Given the description of an element on the screen output the (x, y) to click on. 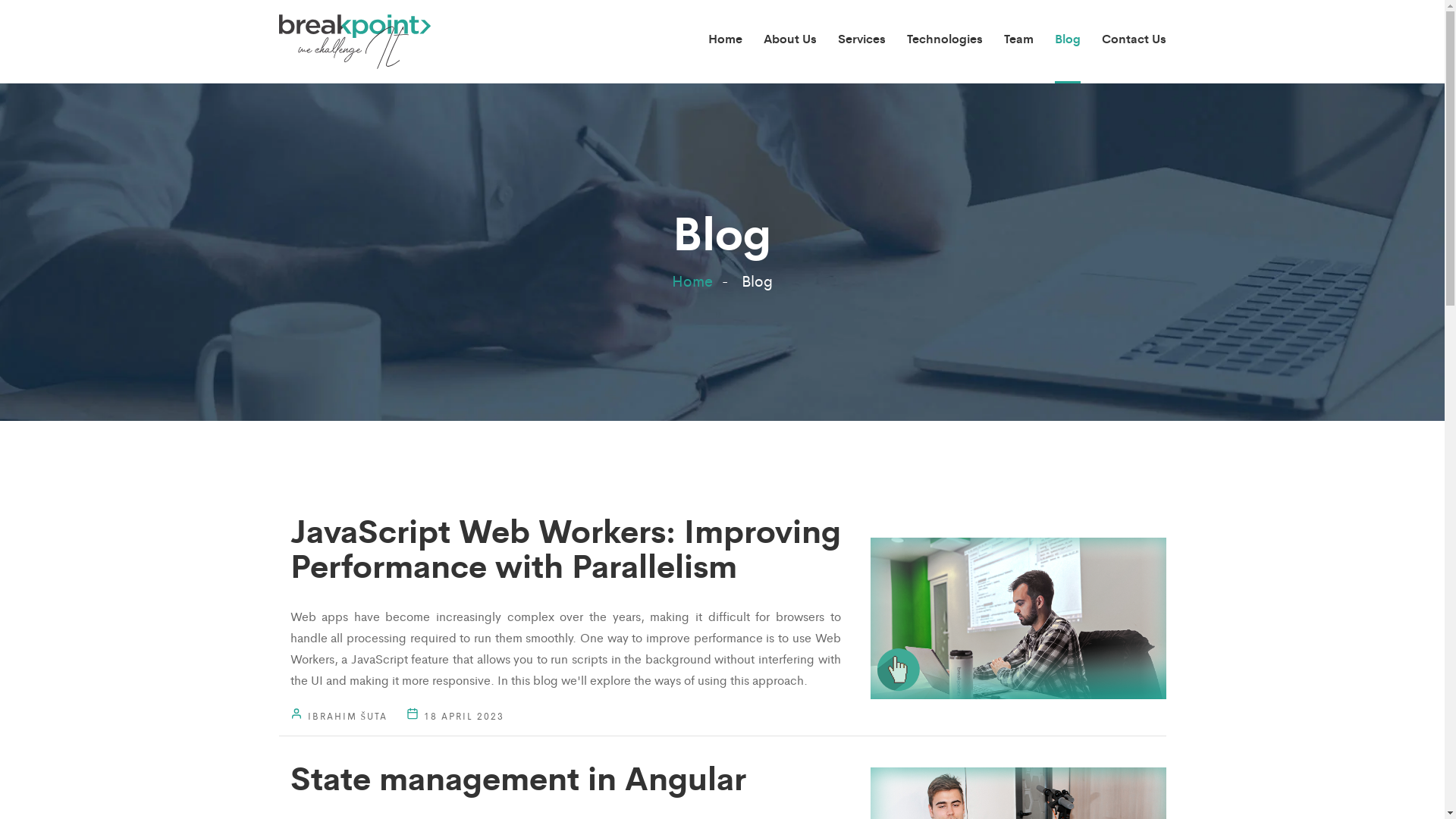
Technologies Element type: text (944, 41)
Blog Element type: text (1066, 41)
State management in Angular Element type: text (517, 776)
Contact Us Element type: text (1133, 41)
About Us Element type: text (788, 41)
Team Element type: text (1018, 41)
Home Element type: text (691, 280)
Services Element type: text (860, 41)
Home Element type: text (725, 41)
